Given the description of an element on the screen output the (x, y) to click on. 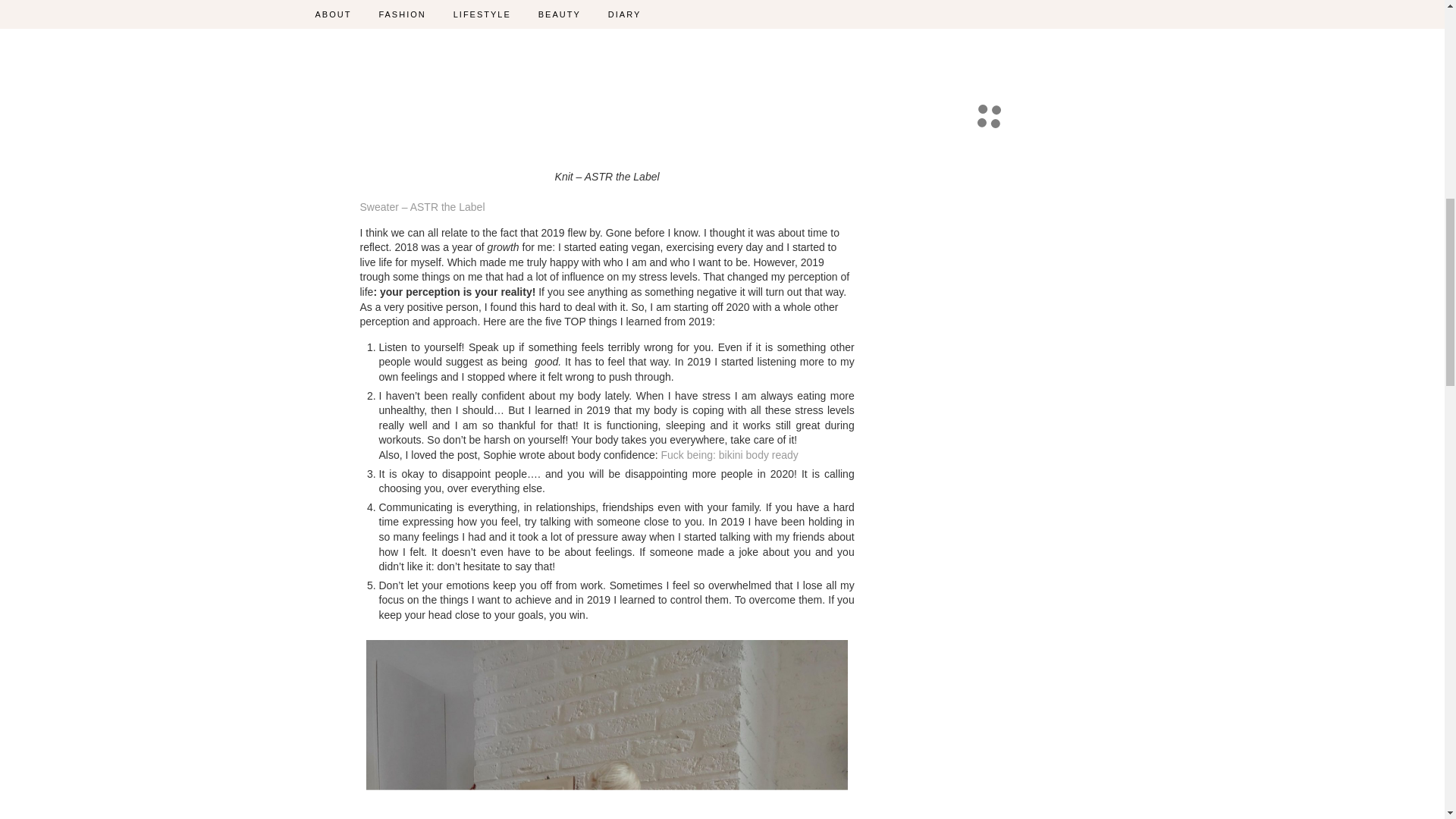
Lessons 2019 (606, 81)
Lessons 2019 (606, 729)
Fuck being: bikini body ready (729, 454)
